Given the description of an element on the screen output the (x, y) to click on. 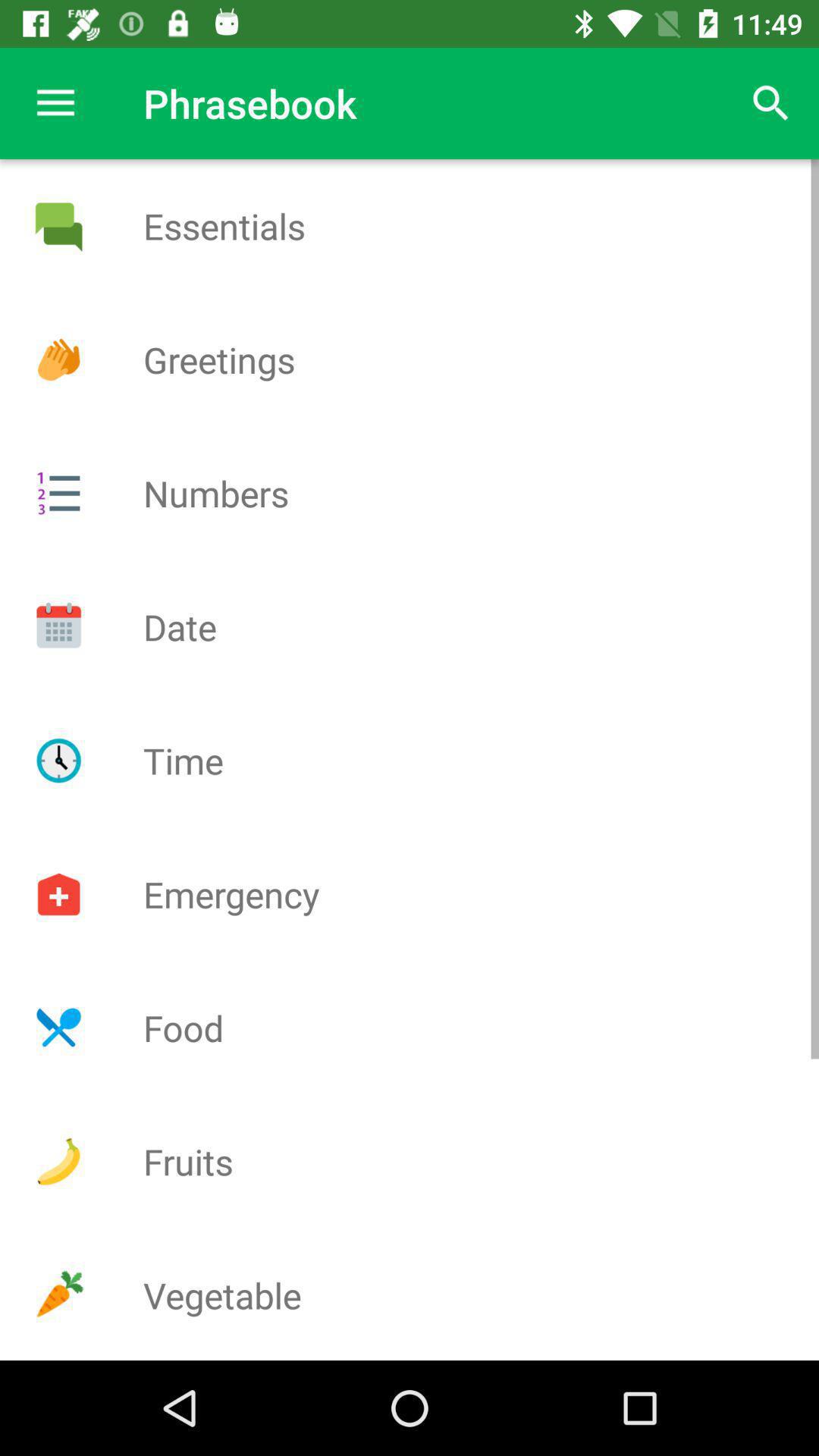
menu page (58, 493)
